Given the description of an element on the screen output the (x, y) to click on. 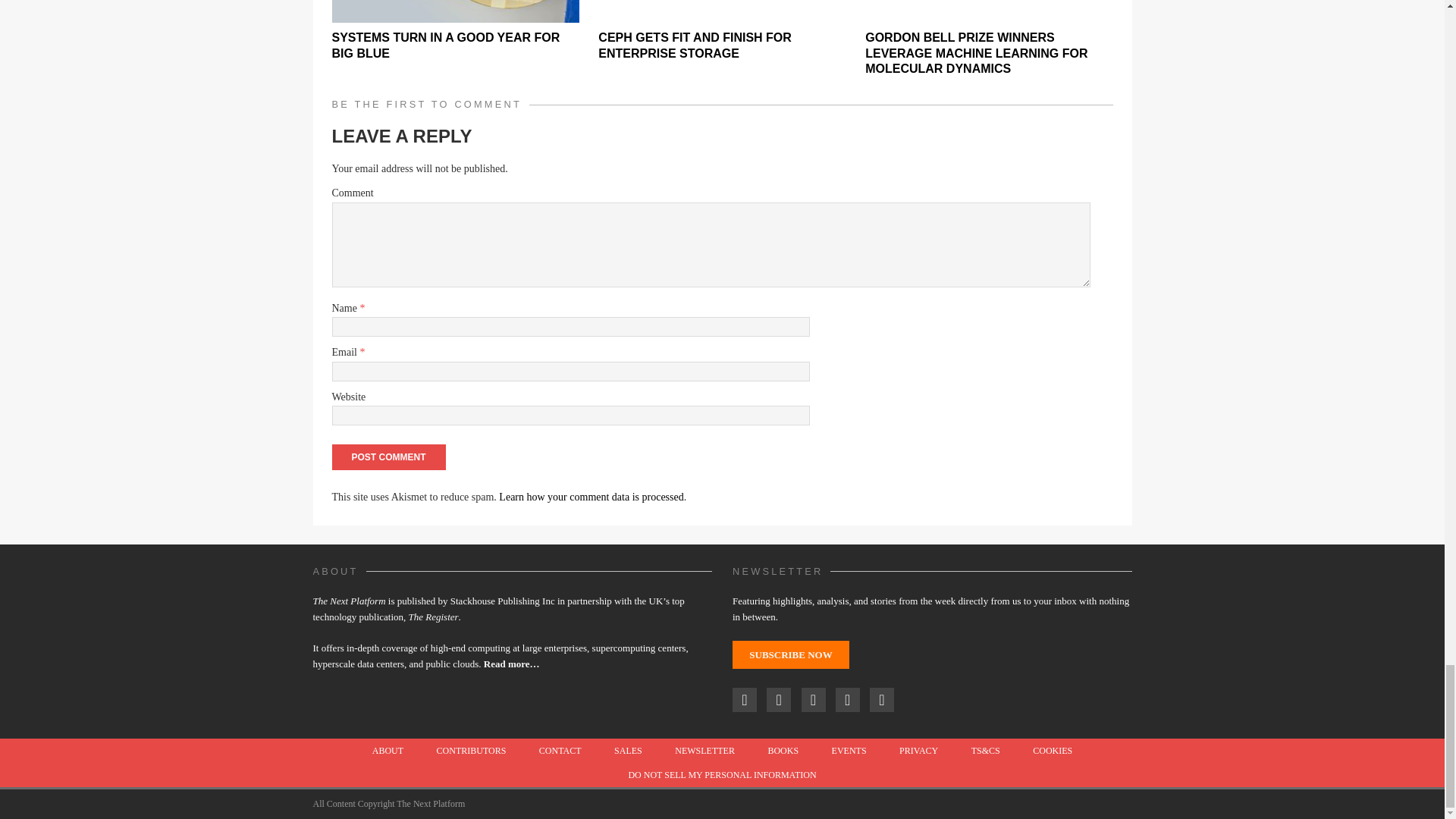
Post Comment (388, 457)
